Given the description of an element on the screen output the (x, y) to click on. 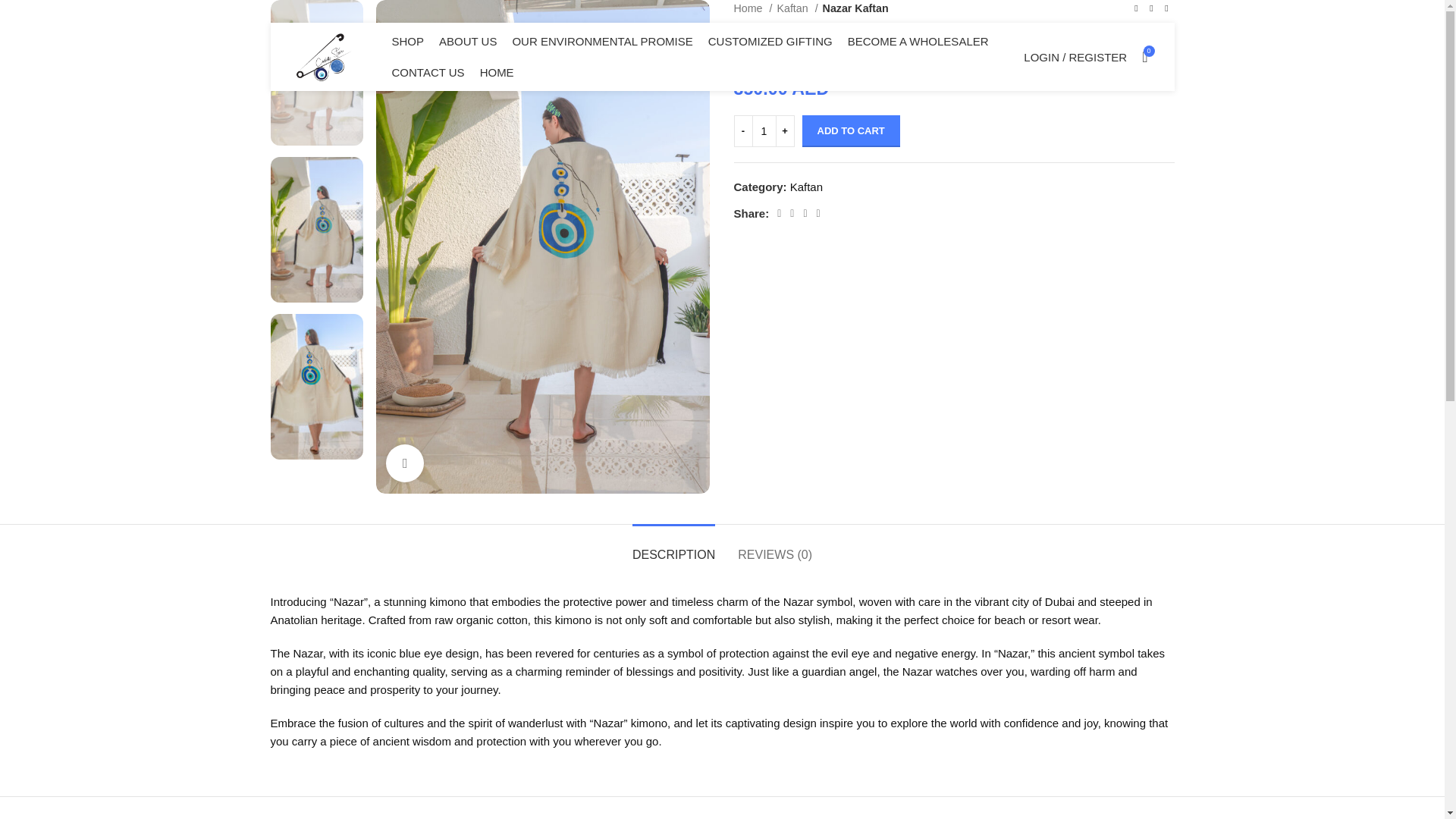
Kaftan (806, 186)
SHOP (407, 40)
CUSTOMIZED GIFTING (769, 40)
DESCRIPTION (672, 547)
Home (753, 8)
CONTACT US (427, 72)
OUR ENVIRONMENTAL PROMISE (602, 40)
My account (1075, 56)
HOME (496, 72)
BECOME A WHOLESALER (917, 40)
